Given the description of an element on the screen output the (x, y) to click on. 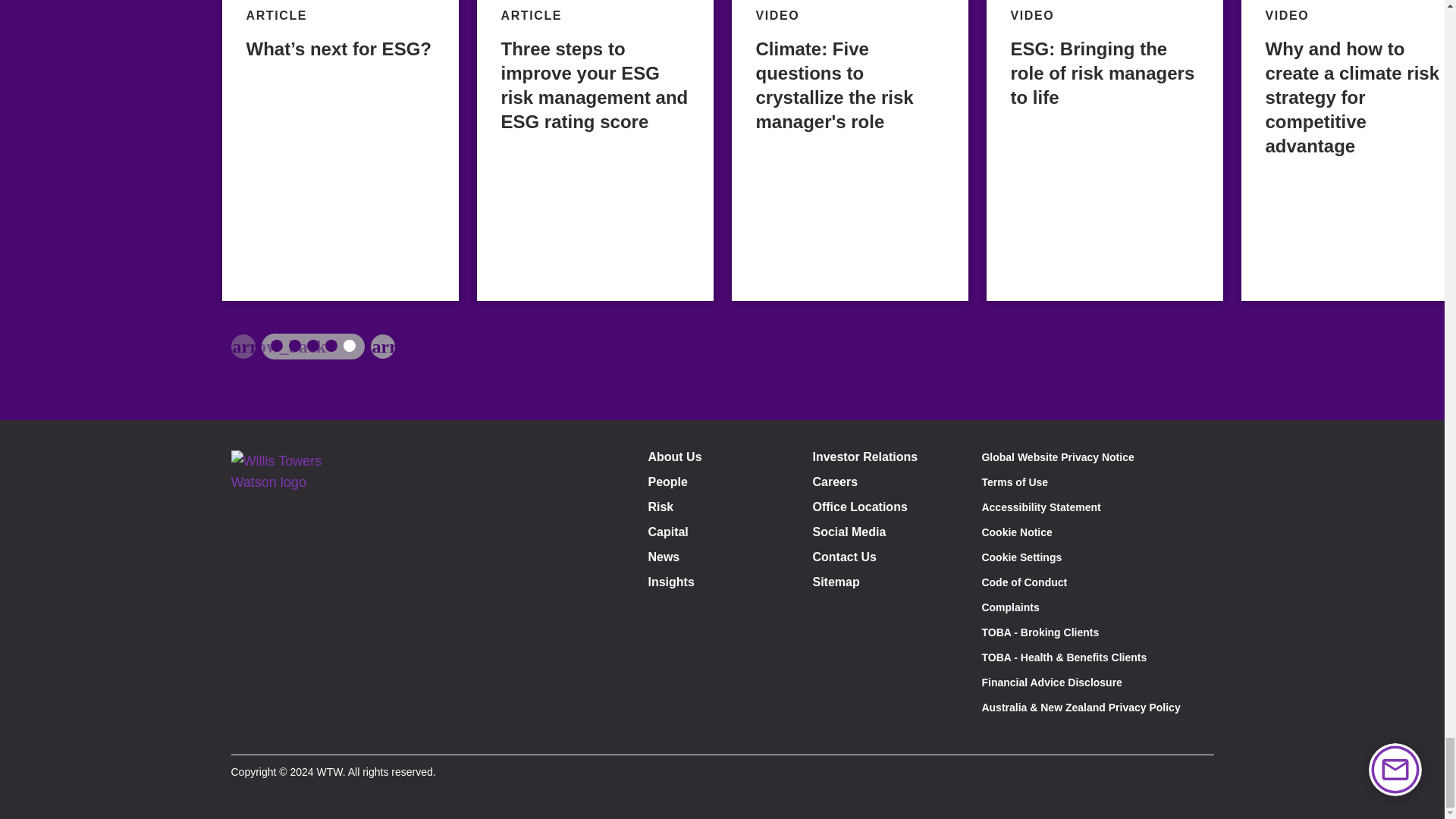
Financial Advice Disclosure (1051, 682)
Linkedin (287, 732)
Instagram (320, 732)
Facebook (252, 732)
